Given the description of an element on the screen output the (x, y) to click on. 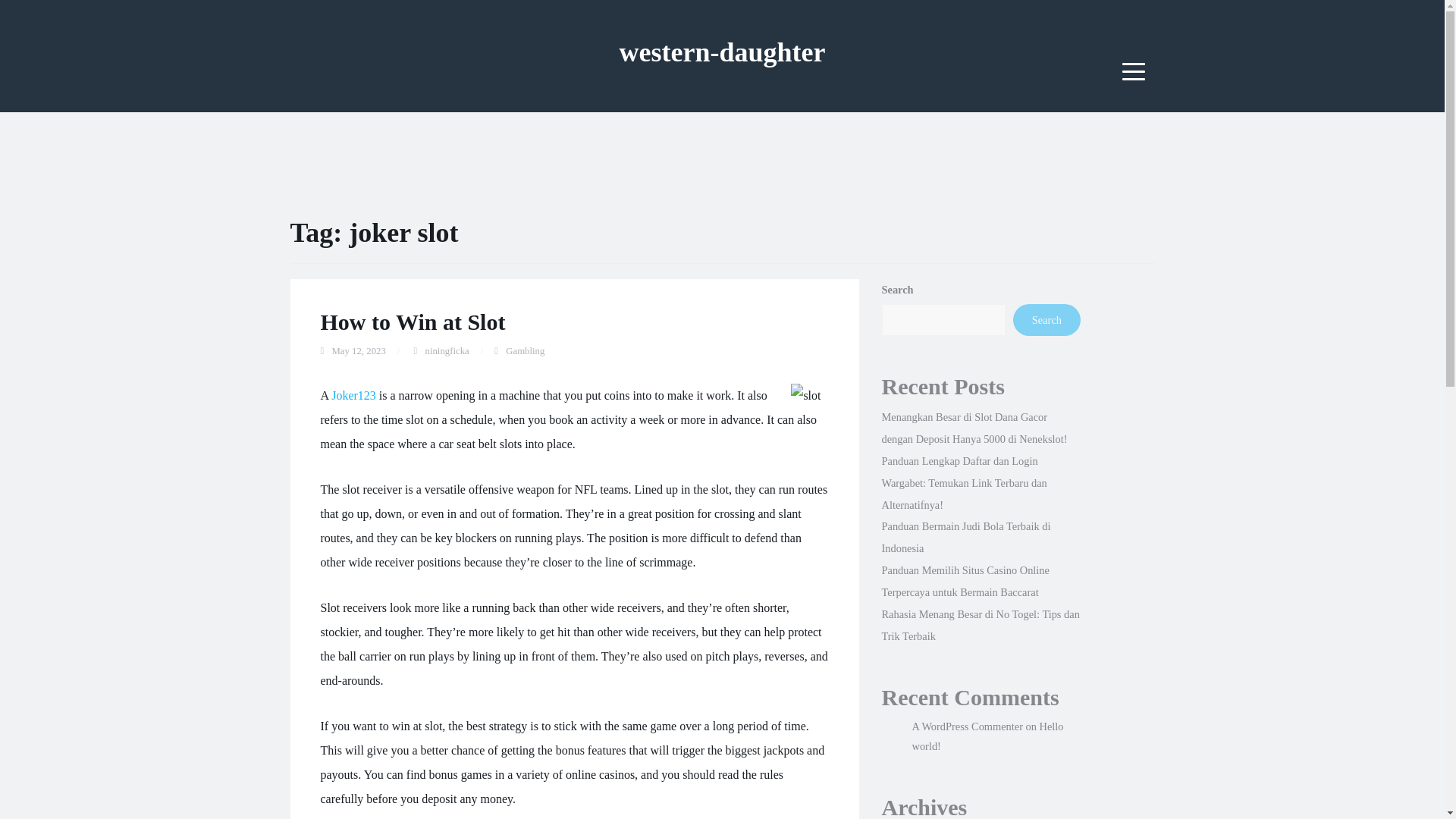
Hello world! (986, 736)
Rahasia Menang Besar di No Togel: Tips dan Trik Terbaik (979, 625)
A WordPress Commenter (966, 726)
niningficka (446, 350)
Menu (1133, 71)
Joker123 (353, 395)
May 12, 2023 (358, 350)
Gambling (524, 350)
Panduan Bermain Judi Bola Terbaik di Indonesia (964, 537)
western-daughter (721, 51)
Search (1046, 319)
How to Win at Slot (412, 321)
